Given the description of an element on the screen output the (x, y) to click on. 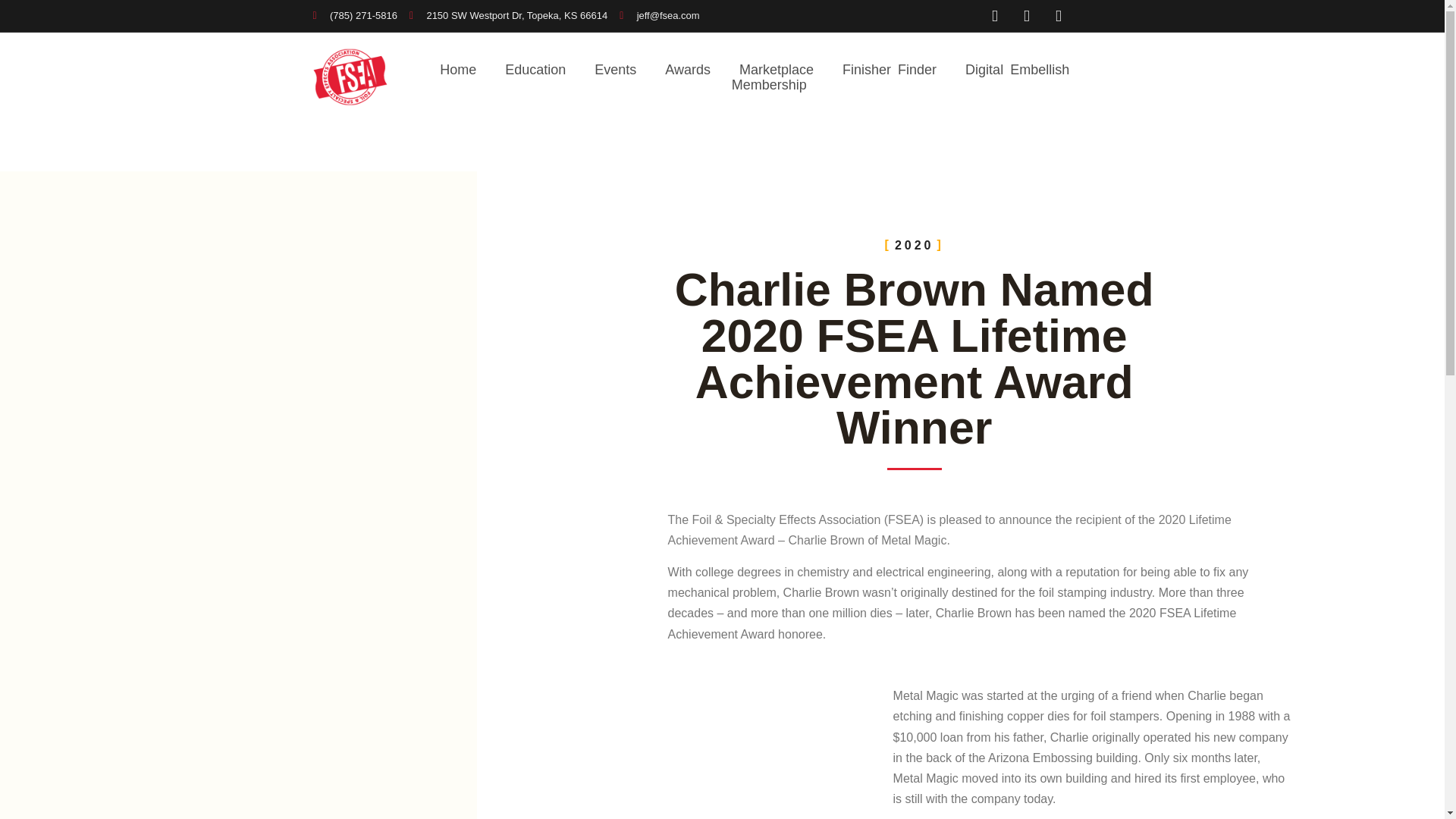
Education (535, 69)
Awards (687, 69)
Finisher Finder (889, 69)
Membership (769, 84)
Marketplace (776, 69)
Events (615, 69)
Home (457, 69)
Digital Embellish (1016, 69)
